Given the description of an element on the screen output the (x, y) to click on. 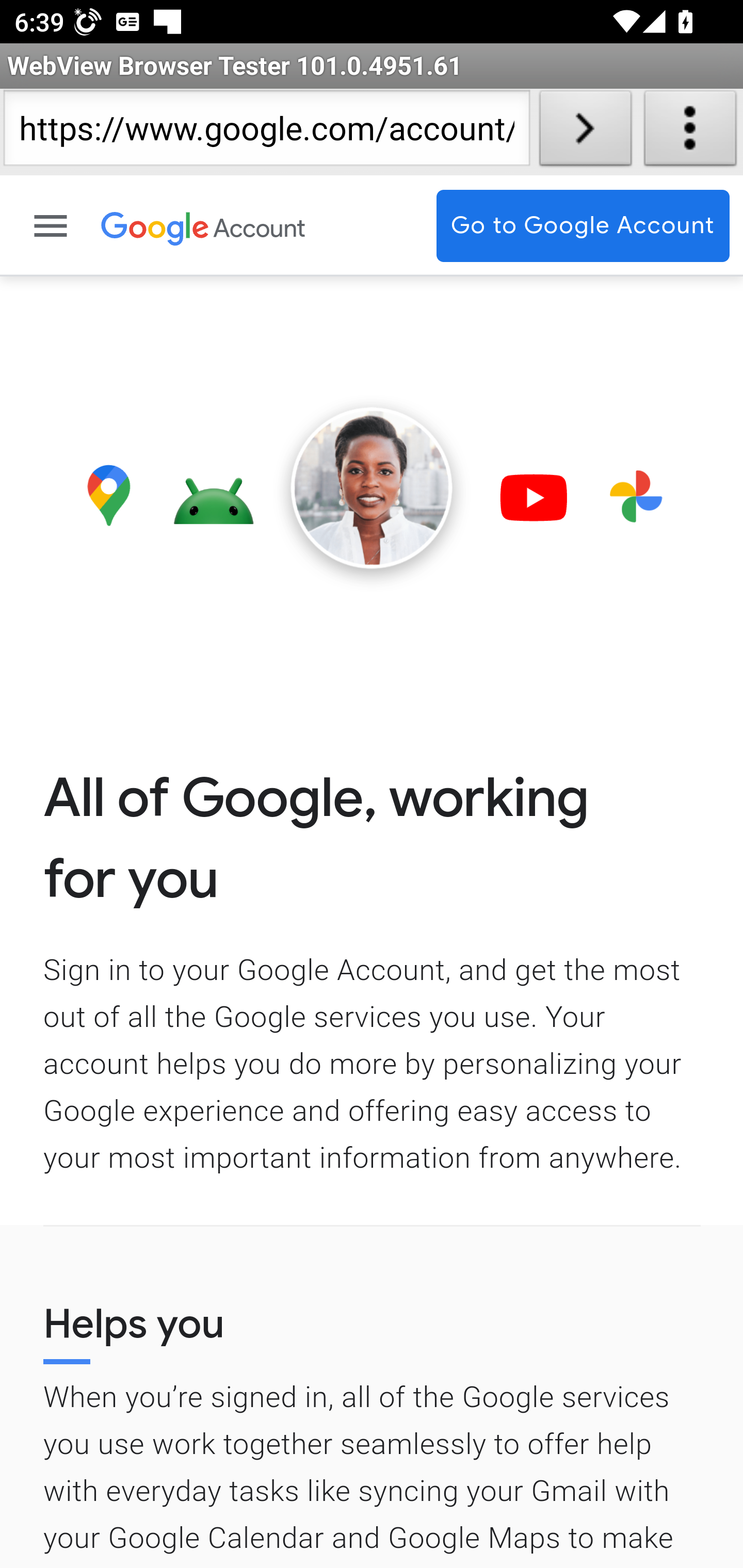
https://www.google.com/account/about/?hl=en (266, 132)
Load URL (585, 132)
About WebView (690, 132)
Google logo (156, 226)
Google Account Account (259, 226)
Open the navigation drawer (51, 226)
Go to your Google Account Go to Google Account (582, 226)
